Given the description of an element on the screen output the (x, y) to click on. 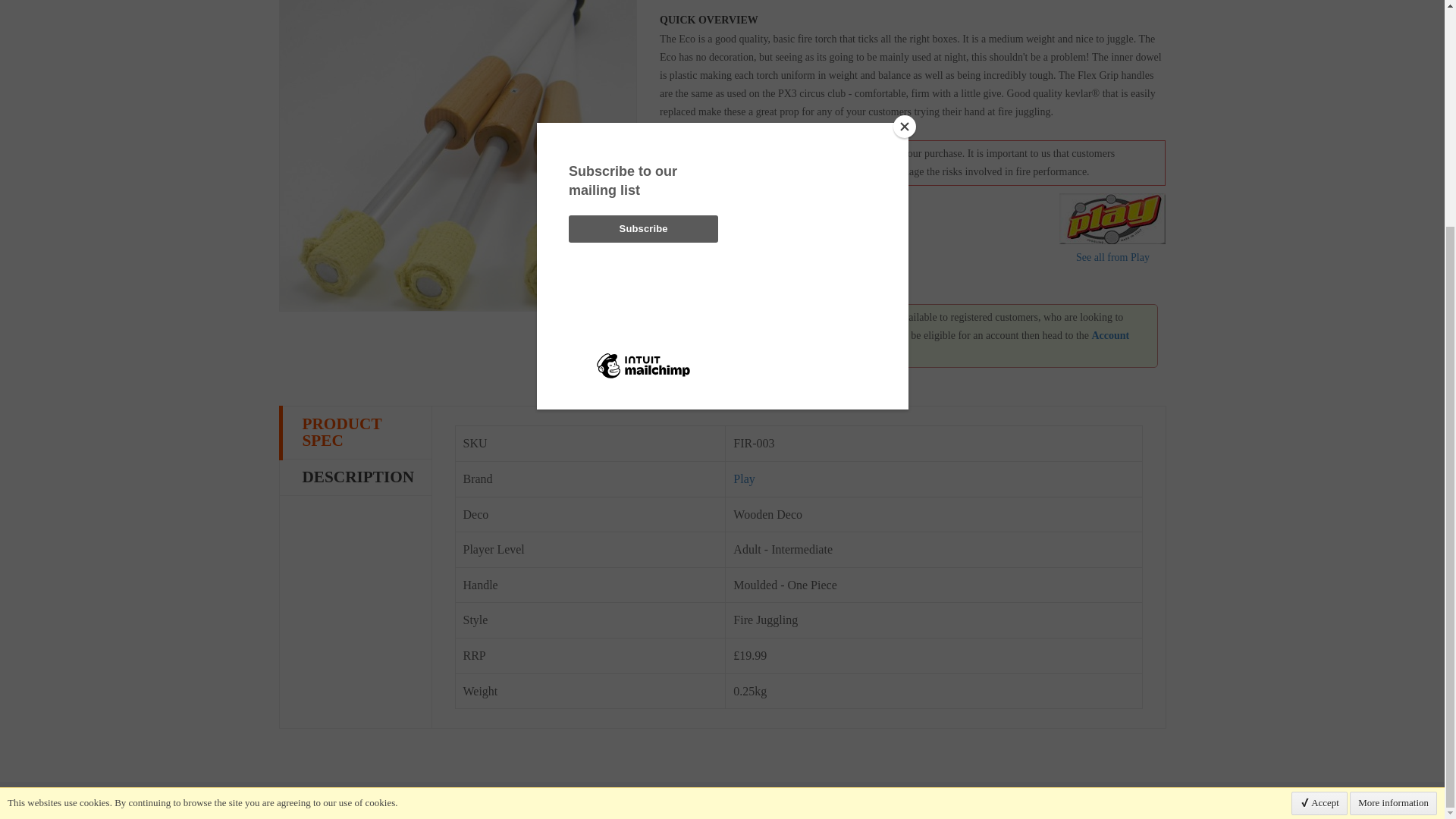
Play (1112, 218)
Play Eco Fire Juggling Torch (457, 156)
